Given the description of an element on the screen output the (x, y) to click on. 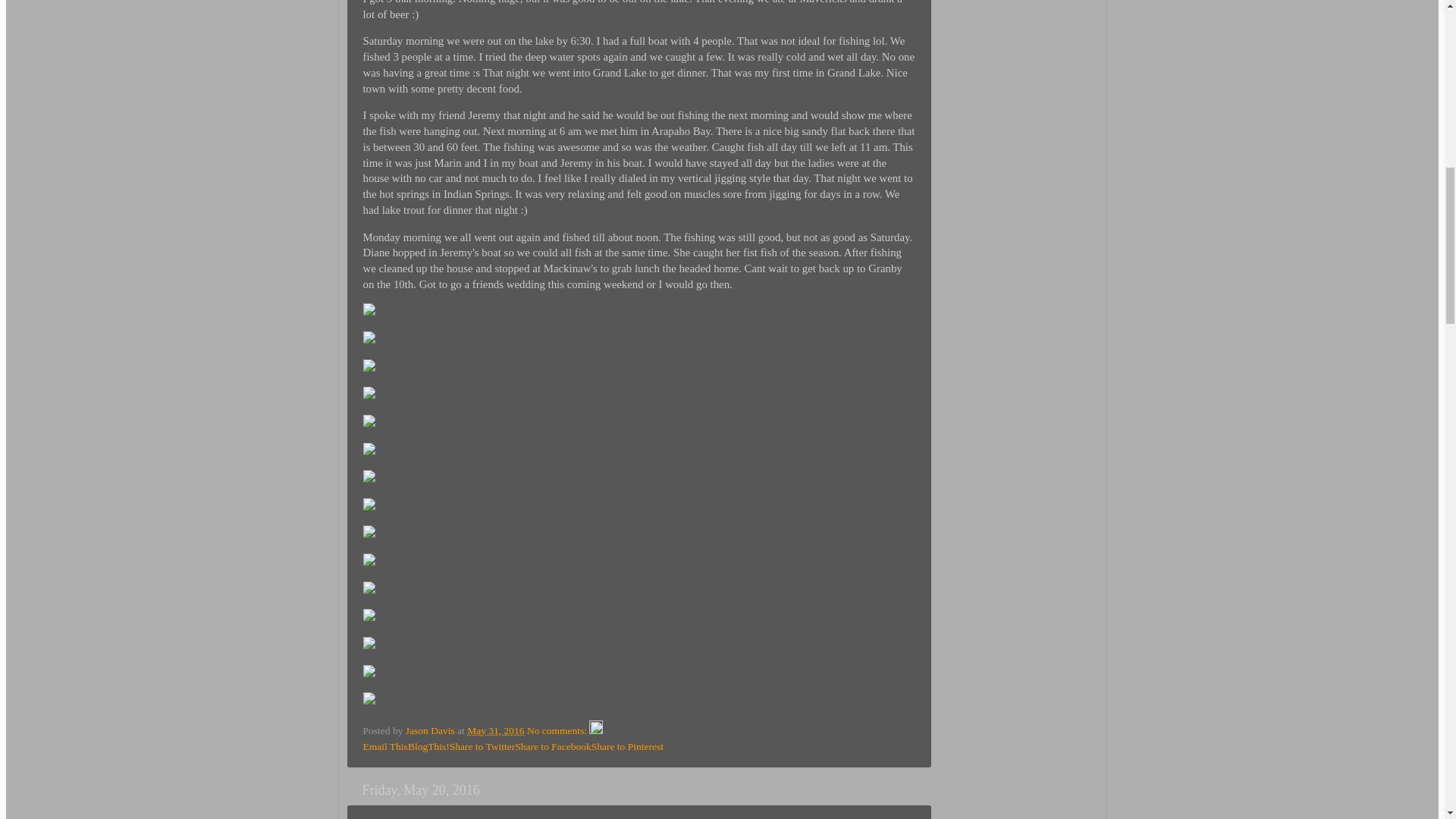
Share to Twitter (482, 746)
Share to Pinterest (627, 746)
Email This (384, 746)
No comments: (558, 730)
Email This (384, 746)
Edit Post (595, 730)
Share to Pinterest (627, 746)
Share to Facebook (553, 746)
May 31, 2016 (495, 730)
author profile (431, 730)
permanent link (495, 730)
Share to Twitter (482, 746)
BlogThis! (428, 746)
Share to Facebook (553, 746)
